Given the description of an element on the screen output the (x, y) to click on. 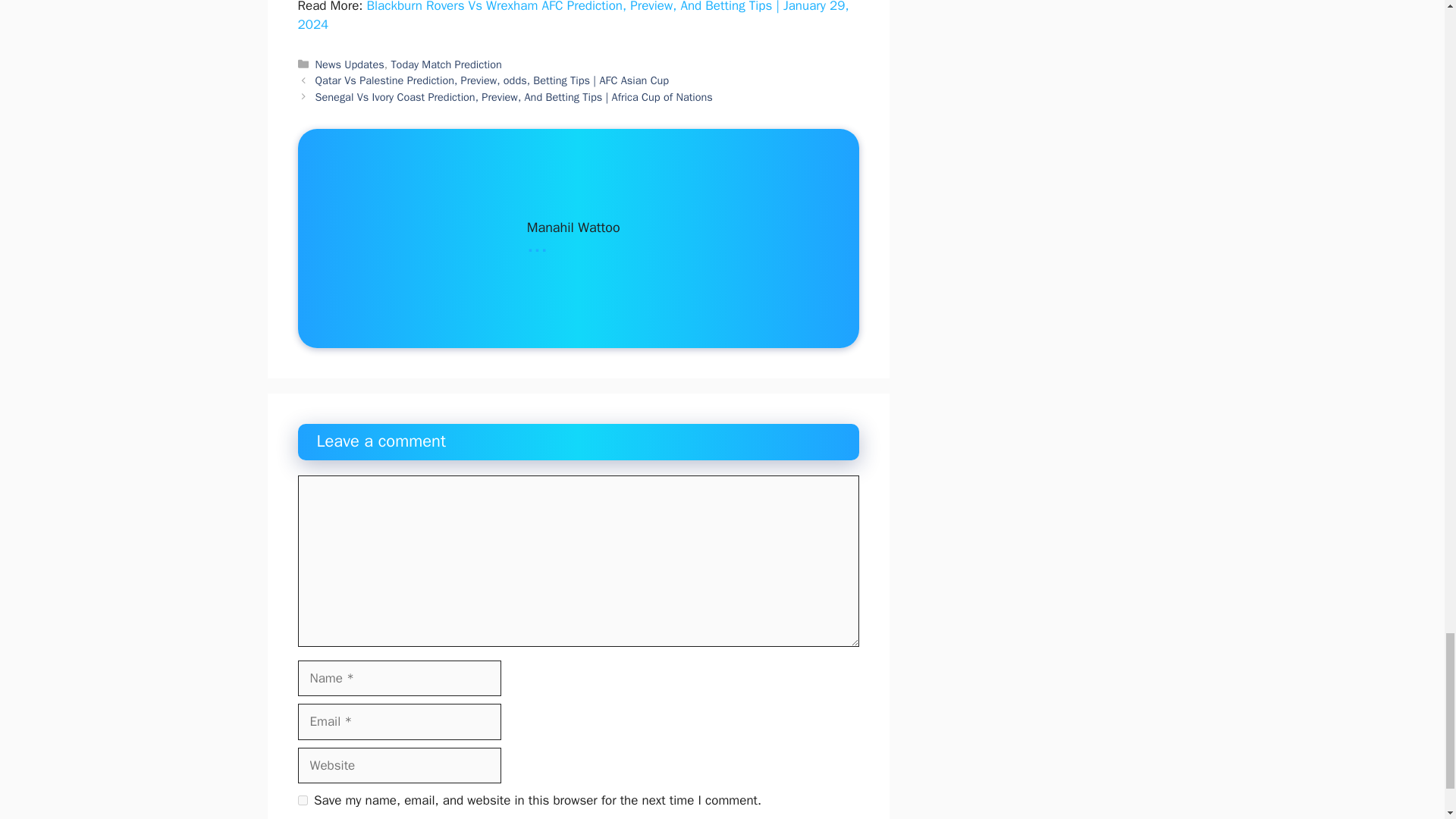
News Updates (349, 64)
yes (302, 800)
Today Match Prediction (445, 64)
